Given the description of an element on the screen output the (x, y) to click on. 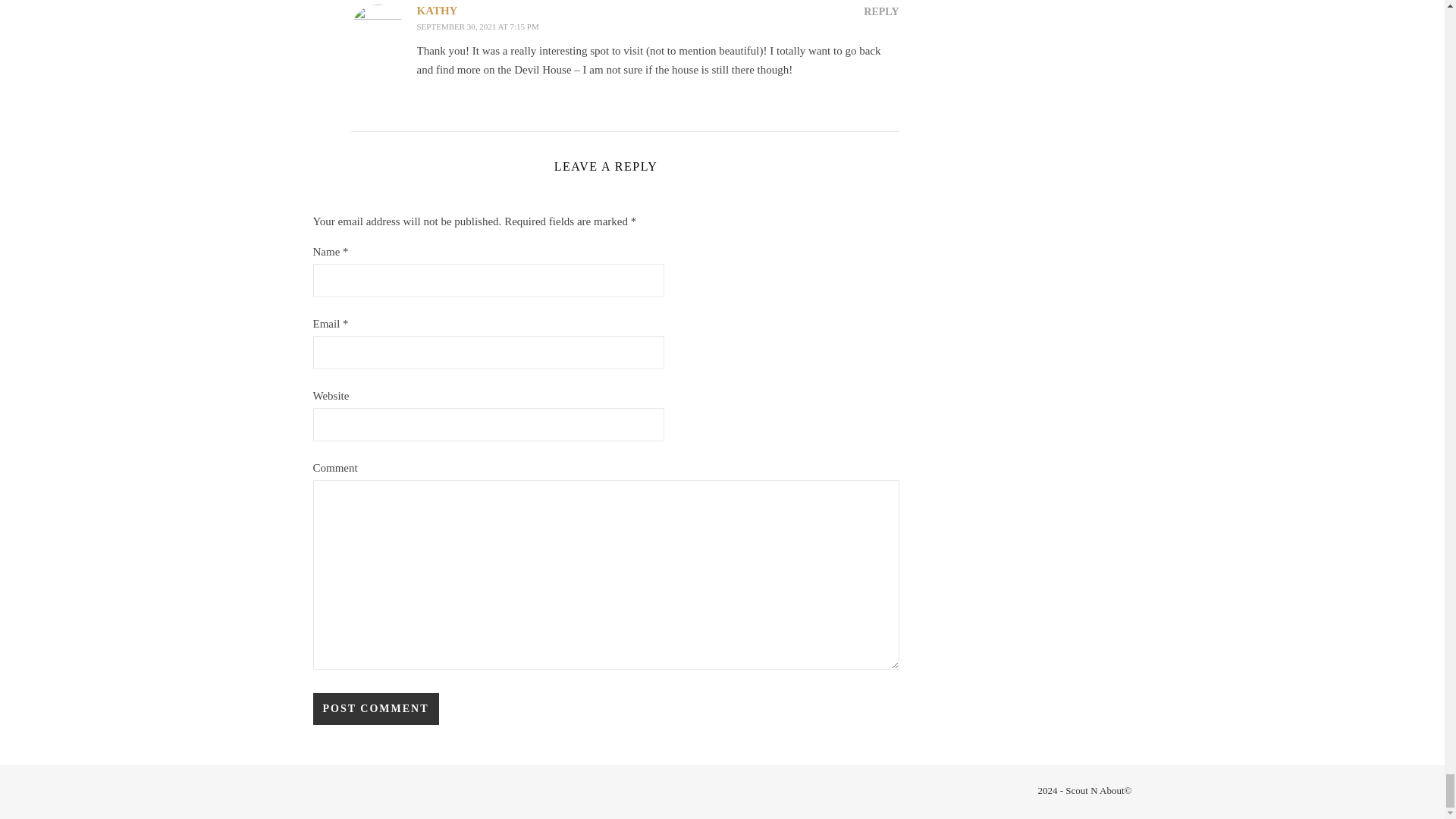
Post Comment (375, 708)
Post Comment (375, 708)
KATHY (437, 10)
REPLY (880, 12)
SEPTEMBER 30, 2021 AT 7:15 PM (477, 26)
